Given the description of an element on the screen output the (x, y) to click on. 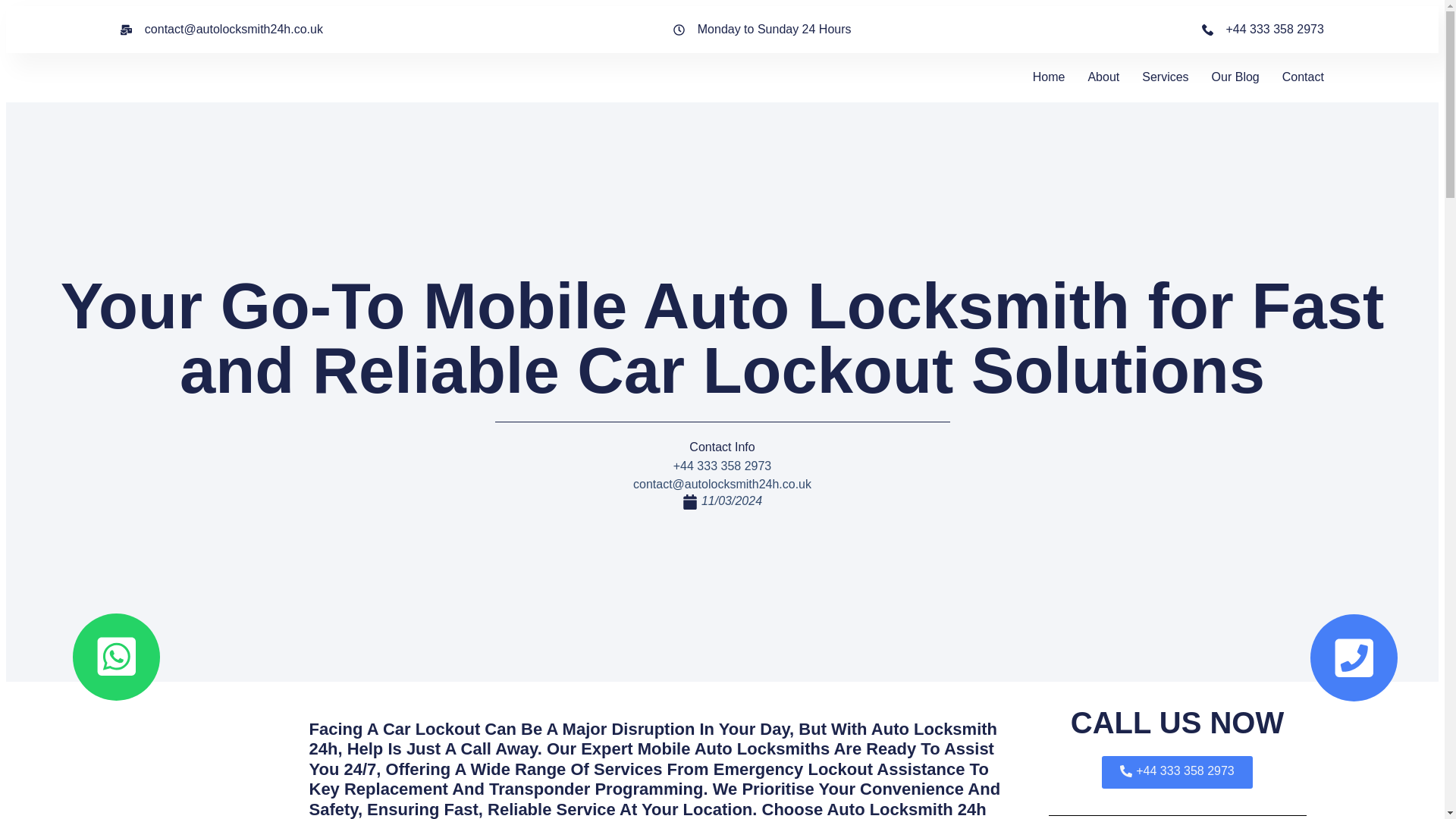
Monday to Sunday 24 Hours (761, 29)
Our Blog (1235, 76)
Contact (1302, 76)
Services (1164, 76)
Home (1048, 76)
About (1103, 76)
